Given the description of an element on the screen output the (x, y) to click on. 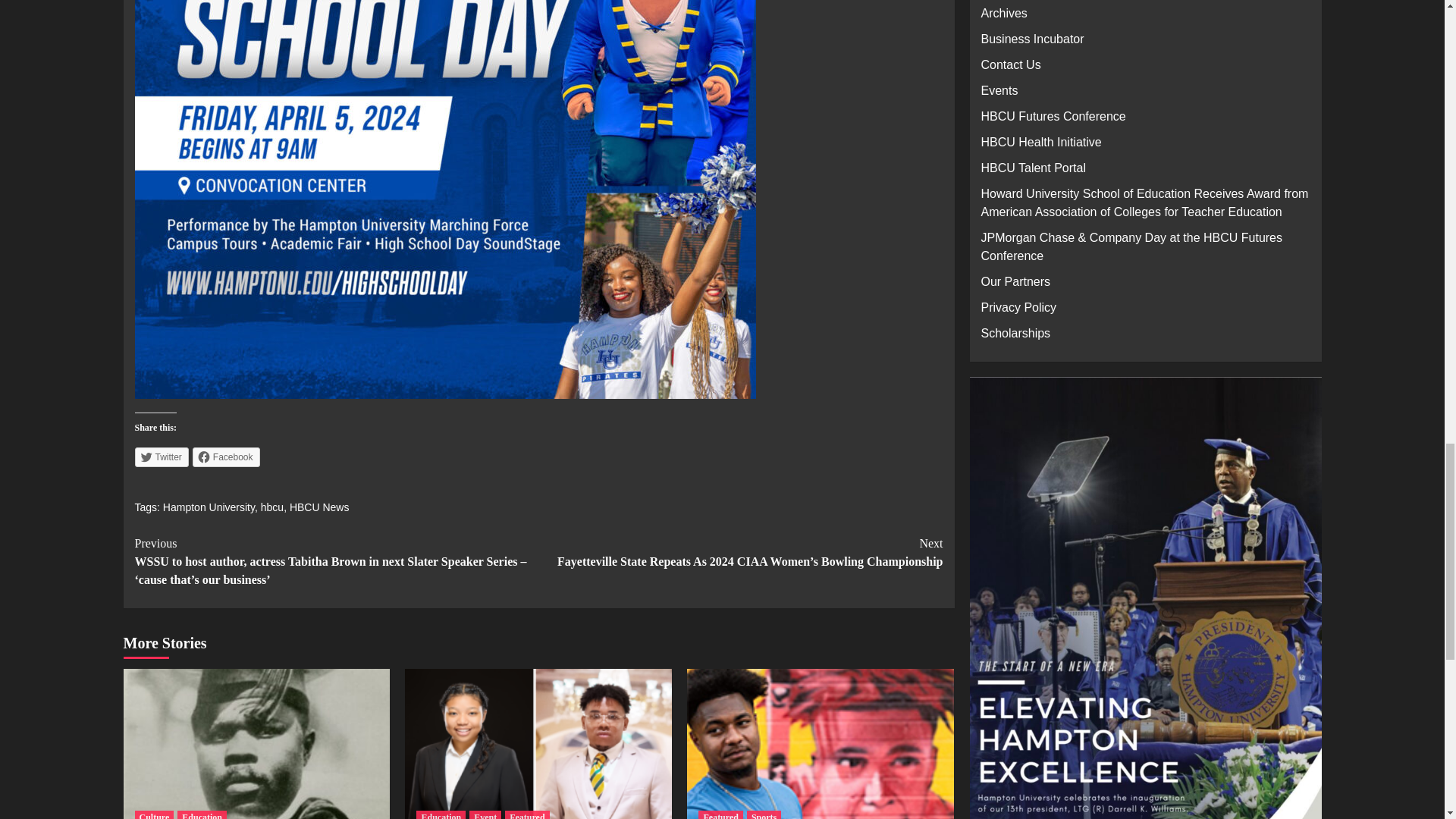
Education (202, 814)
Event (484, 814)
Click to share on Twitter (162, 456)
Featured (526, 814)
Twitter (162, 456)
hbcu (271, 507)
Culture (154, 814)
Education (440, 814)
Facebook (226, 456)
HBCU News (319, 507)
